Given the description of an element on the screen output the (x, y) to click on. 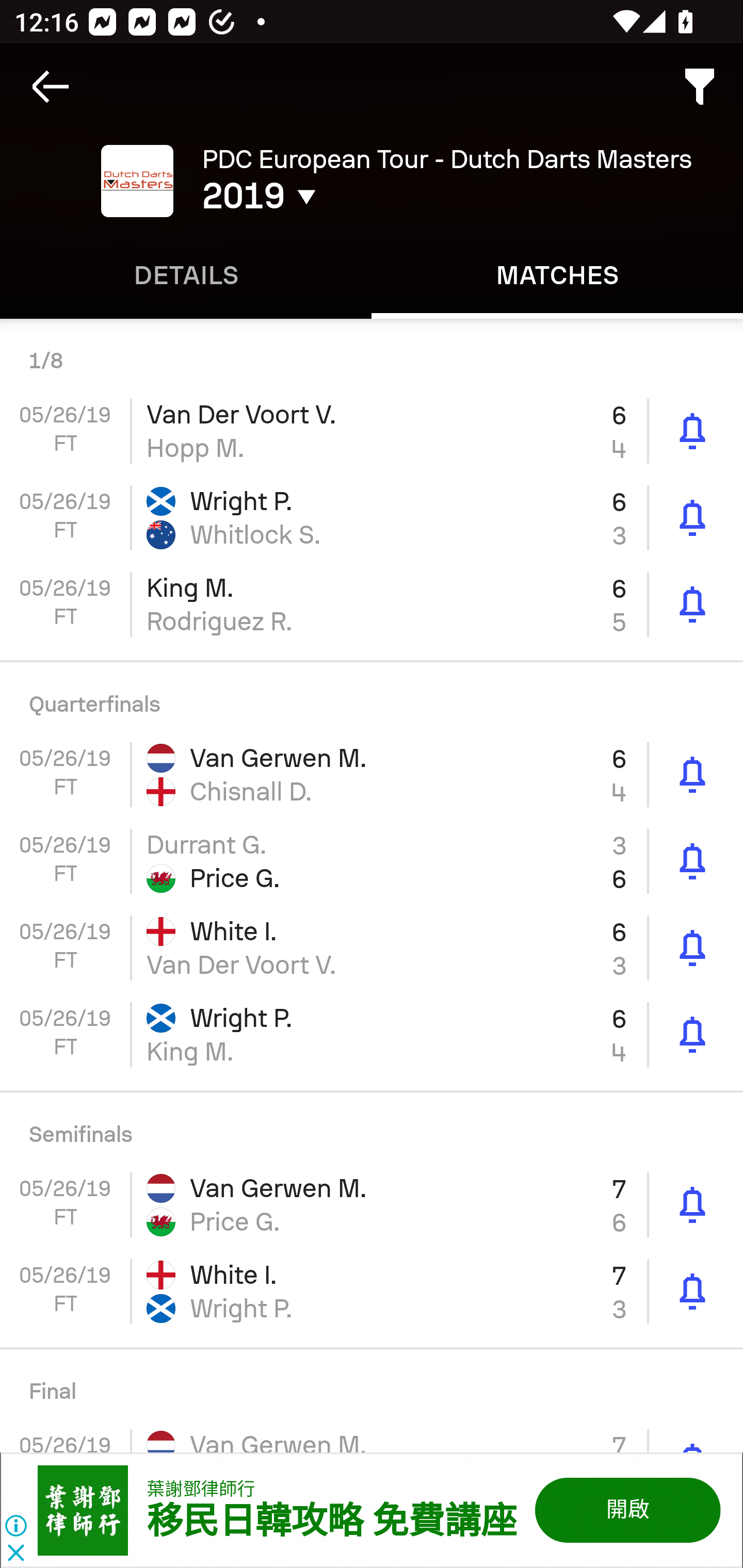
Navigate up (50, 86)
Find (699, 86)
2019 (350, 195)
Details DETAILS (185, 275)
05/26/19 FT Van Der Voort V. 6 Hopp M. 4 (371, 431)
05/26/19 FT Wright P. 6 Whitlock S. 3 (371, 518)
05/26/19 FT King M. 6 Rodriguez R. 5 (371, 604)
Quarterfinals (371, 695)
05/26/19 FT Van Gerwen M. 6 Chisnall D. 4 (371, 774)
05/26/19 FT Durrant G. 3 Price G. 6 (371, 861)
05/26/19 FT White I. 6 Van Der Voort V. 3 (371, 947)
05/26/19 FT Wright P. 6 King M. 4 (371, 1034)
Semifinals (371, 1126)
05/26/19 FT Van Gerwen M. 7 Price G. 6 (371, 1204)
05/26/19 FT White I. 7 Wright P. 3 (371, 1291)
Final (371, 1384)
葉謝鄧律師行 (200, 1488)
開啟 (626, 1509)
移民日韓攻略 免費講座 (330, 1521)
